Given the description of an element on the screen output the (x, y) to click on. 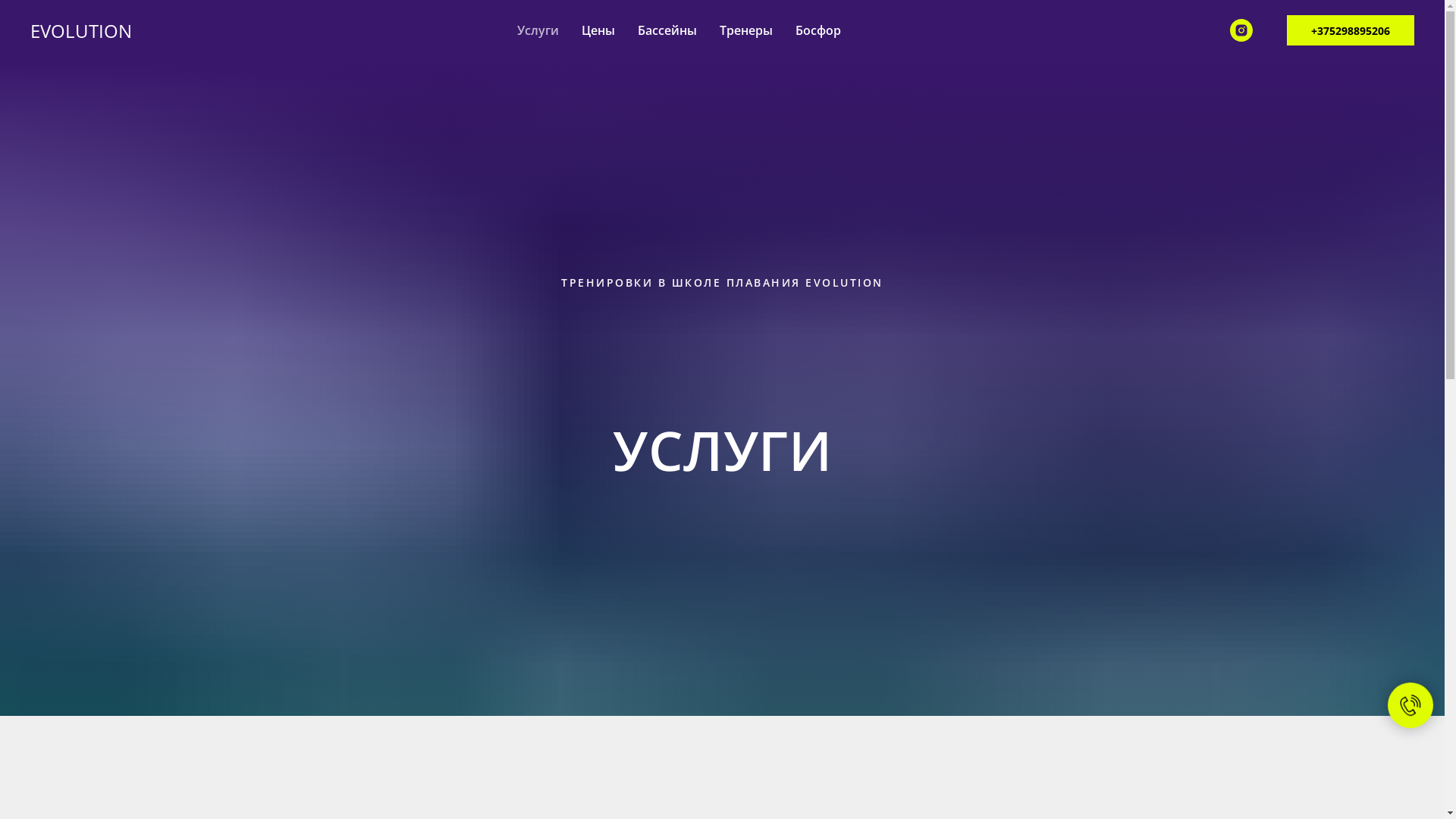
EVOLUTION Element type: text (92, 30)
+375298895206 Element type: text (1350, 30)
